Given the description of an element on the screen output the (x, y) to click on. 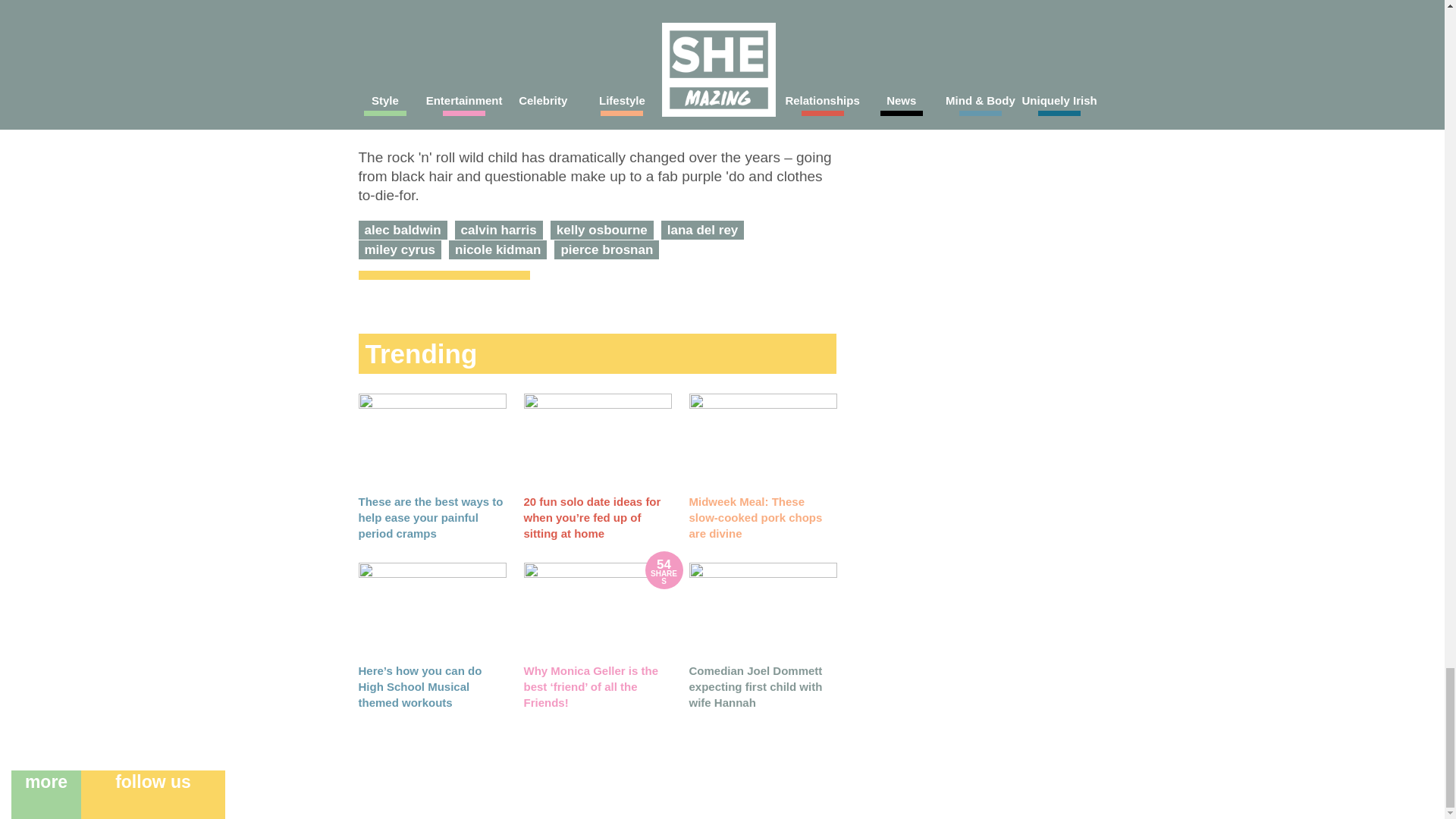
Comedian Joel Dommett expecting first child with wife Hannah (761, 610)
Midweek Meal: These slow-cooked pork chops are divine (761, 440)
Midweek Meal: These slow-cooked pork chops are divine (755, 516)
Comedian Joel Dommett expecting first child with wife Hannah (755, 686)
